Given the description of an element on the screen output the (x, y) to click on. 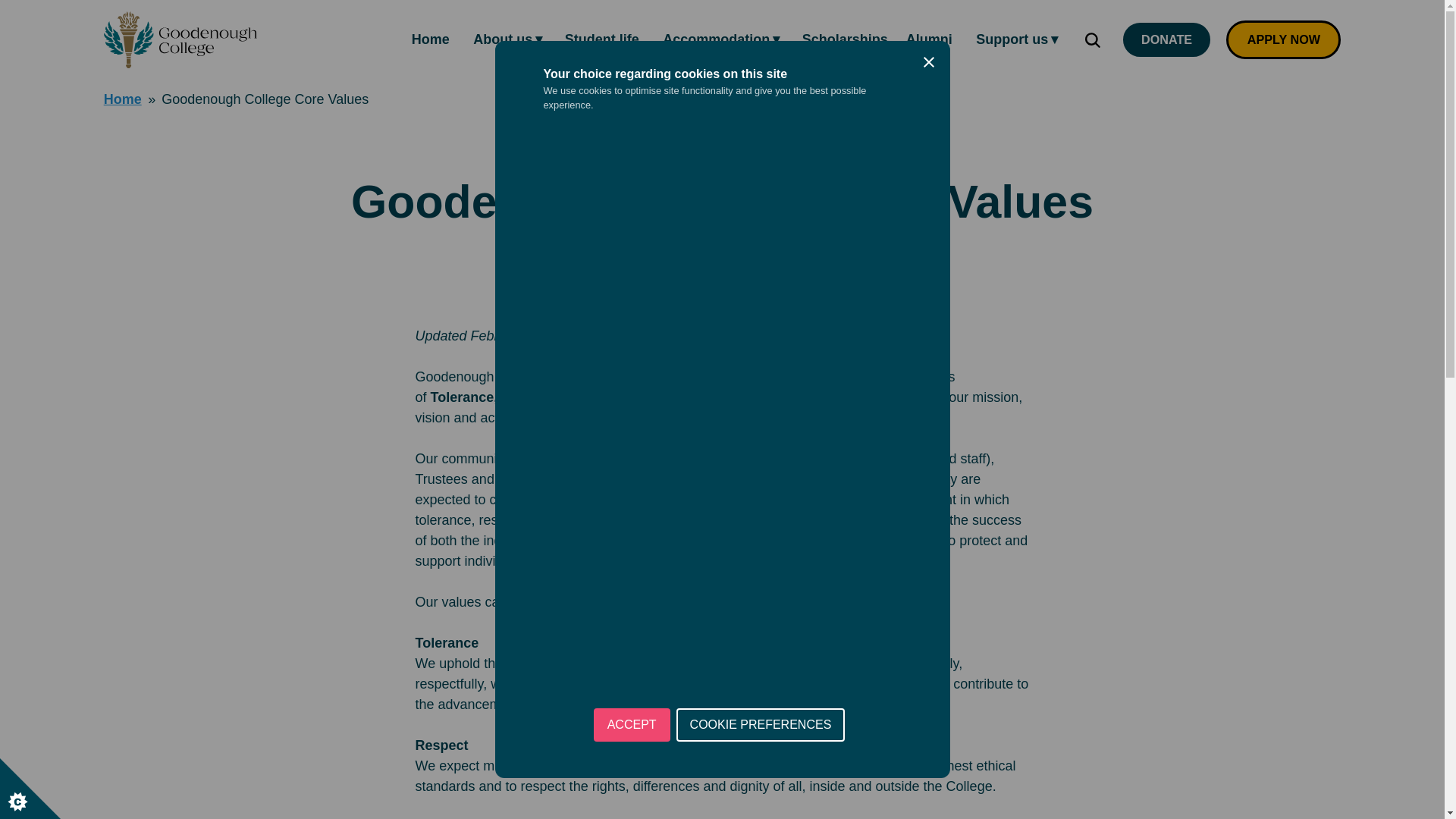
Accommodation (720, 39)
Alumni (928, 39)
About us (507, 39)
Support us (1015, 39)
Home (430, 39)
Student life (601, 39)
Scholarships (844, 39)
